Given the description of an element on the screen output the (x, y) to click on. 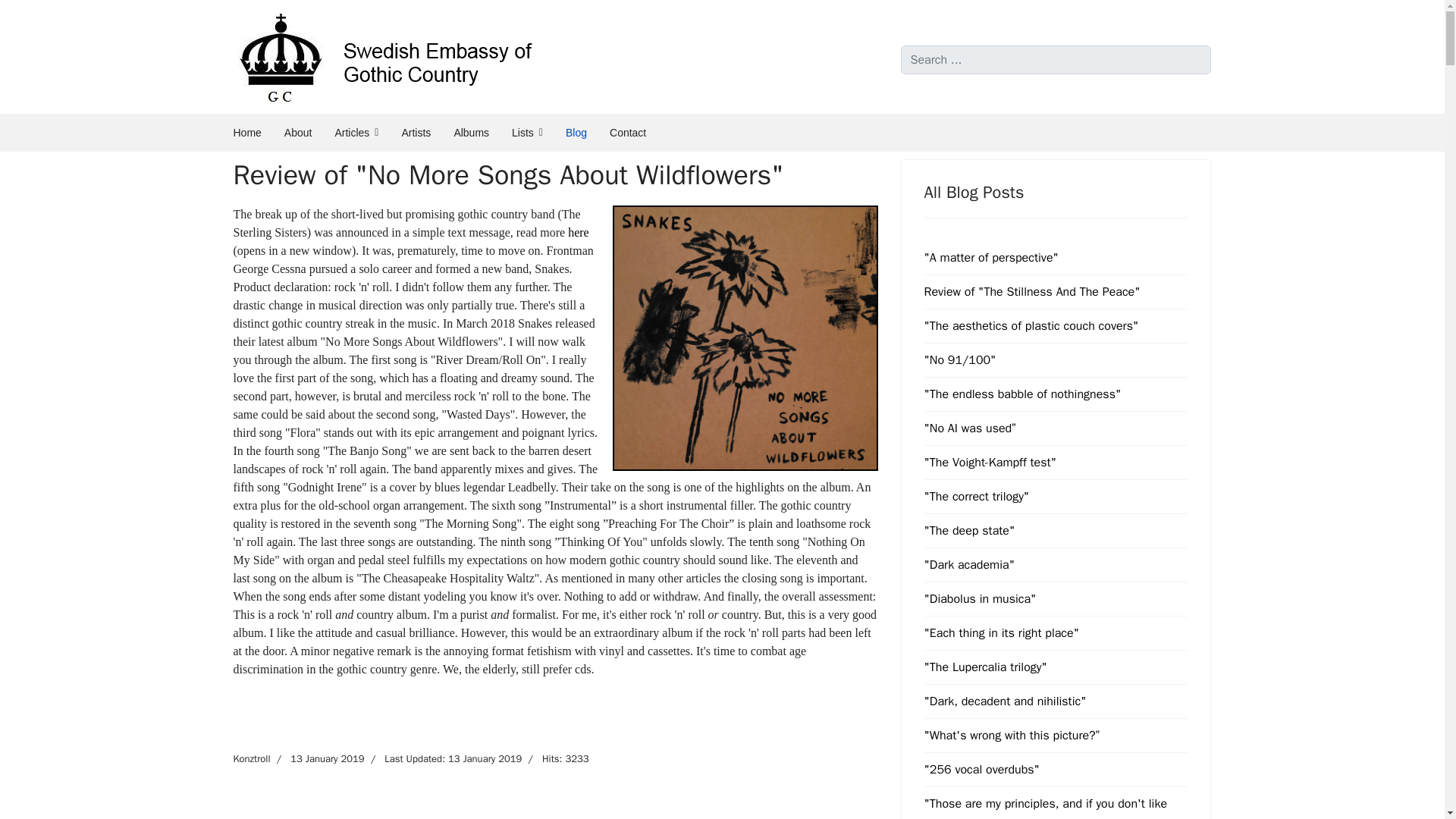
Written by: Konztroll (251, 758)
Articles (356, 132)
Published: 13 January 2019 (317, 758)
About (298, 132)
Songs Nine Through Sixteen (744, 337)
Home (246, 132)
